Given the description of an element on the screen output the (x, y) to click on. 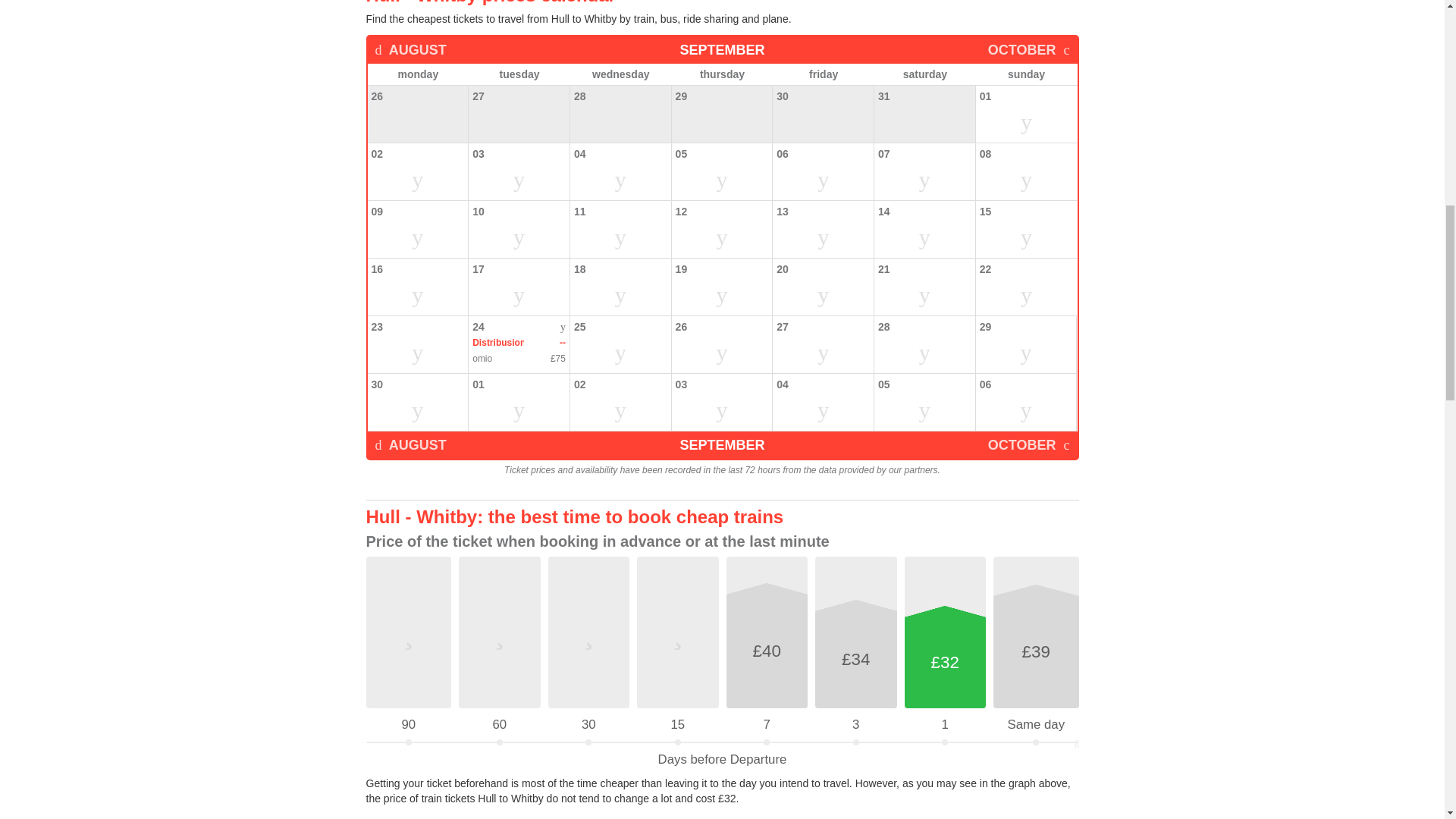
OCTOBER   (1029, 49)
OCTOBER   (1029, 444)
  AUGUST (409, 49)
  AUGUST (409, 444)
